Given the description of an element on the screen output the (x, y) to click on. 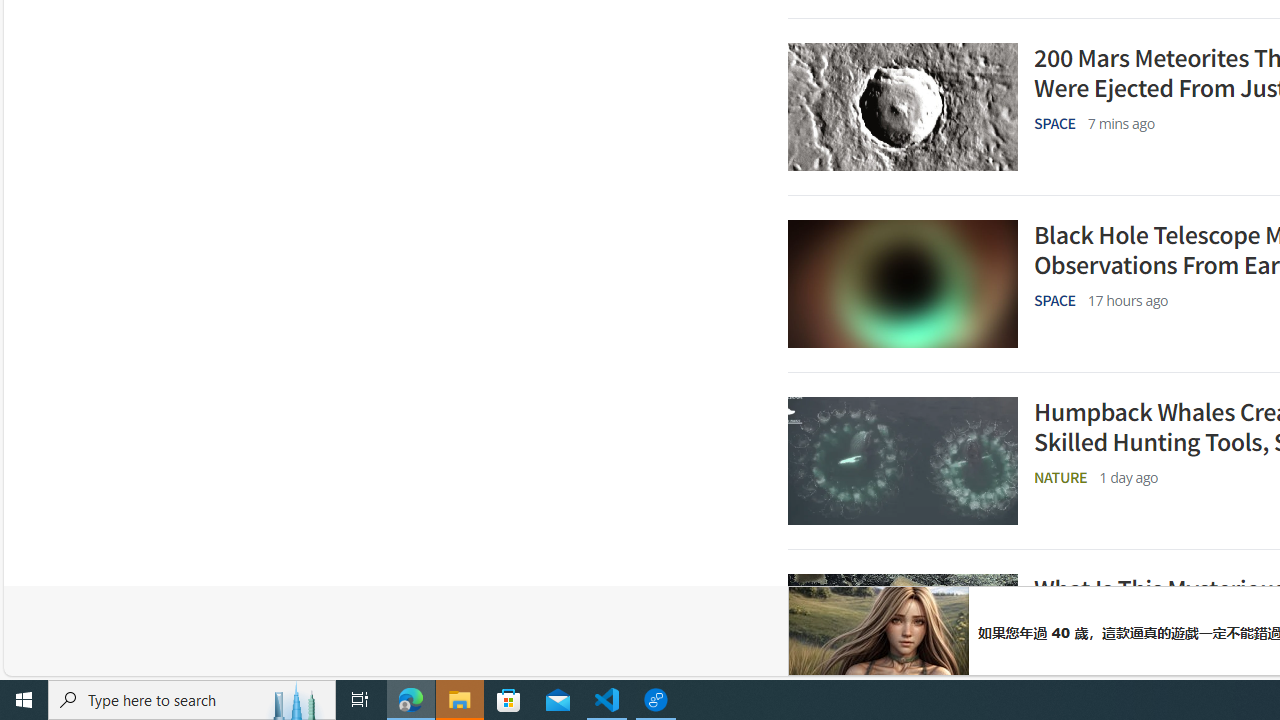
SPACE (1055, 299)
A grey image of a crater on Mars (902, 107)
NATURE (1061, 654)
A grey image of a crater on Mars (902, 107)
